Given the description of an element on the screen output the (x, y) to click on. 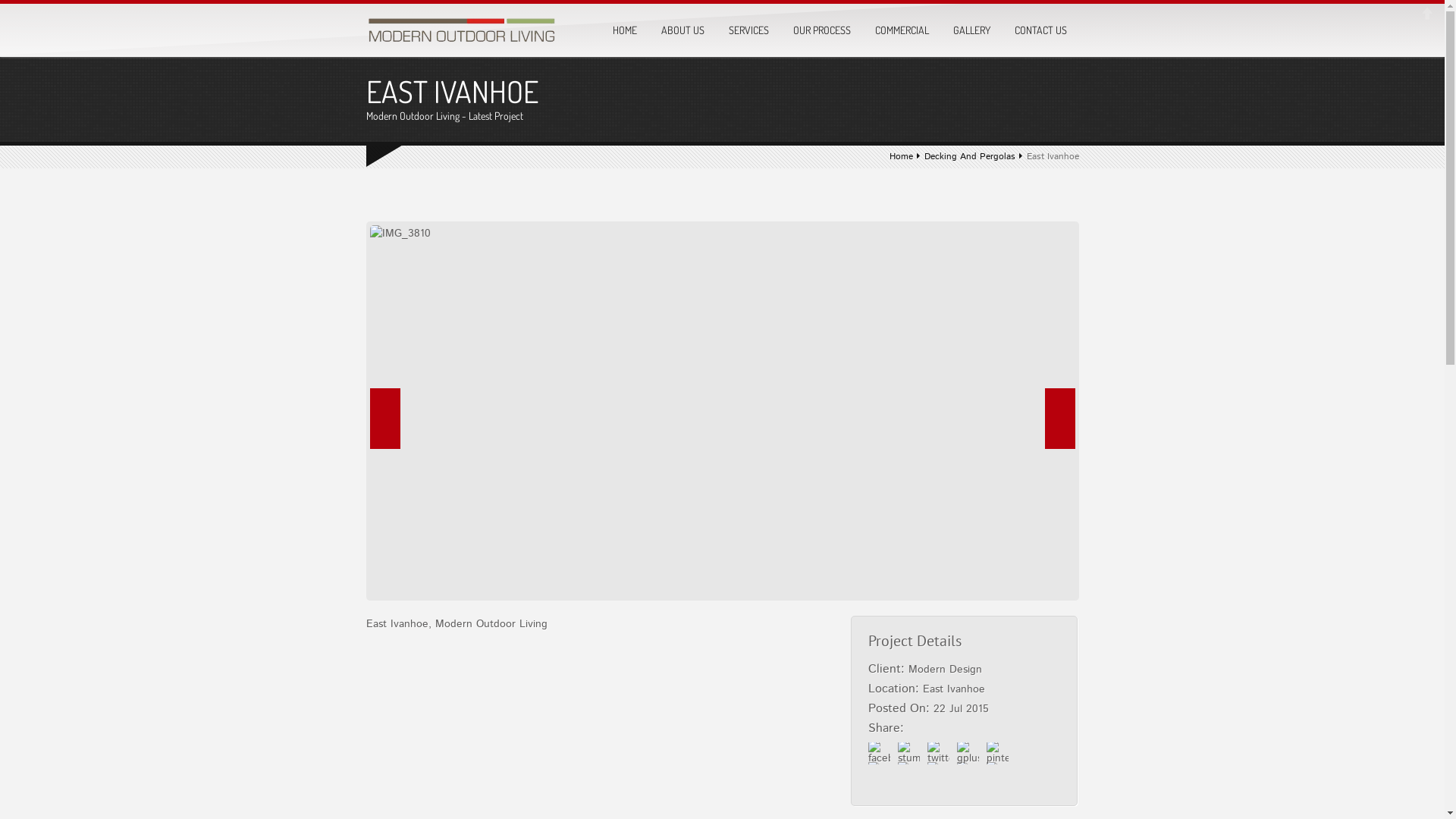
HOME Element type: text (624, 29)
SERVICES Element type: text (747, 29)
OUR PROCESS Element type: text (821, 29)
Modern Outdoor Living Element type: hover (460, 30)
Next Element type: text (1059, 418)
Home Element type: text (900, 156)
COMMERCIAL Element type: text (901, 29)
ABOUT US Element type: text (682, 29)
Modern Outdoor Living Element type: hover (460, 33)
Decking And Pergolas Element type: text (968, 156)
Prev Element type: text (385, 418)
CONTACT US Element type: text (1040, 29)
GALLERY Element type: text (970, 29)
